Given the description of an element on the screen output the (x, y) to click on. 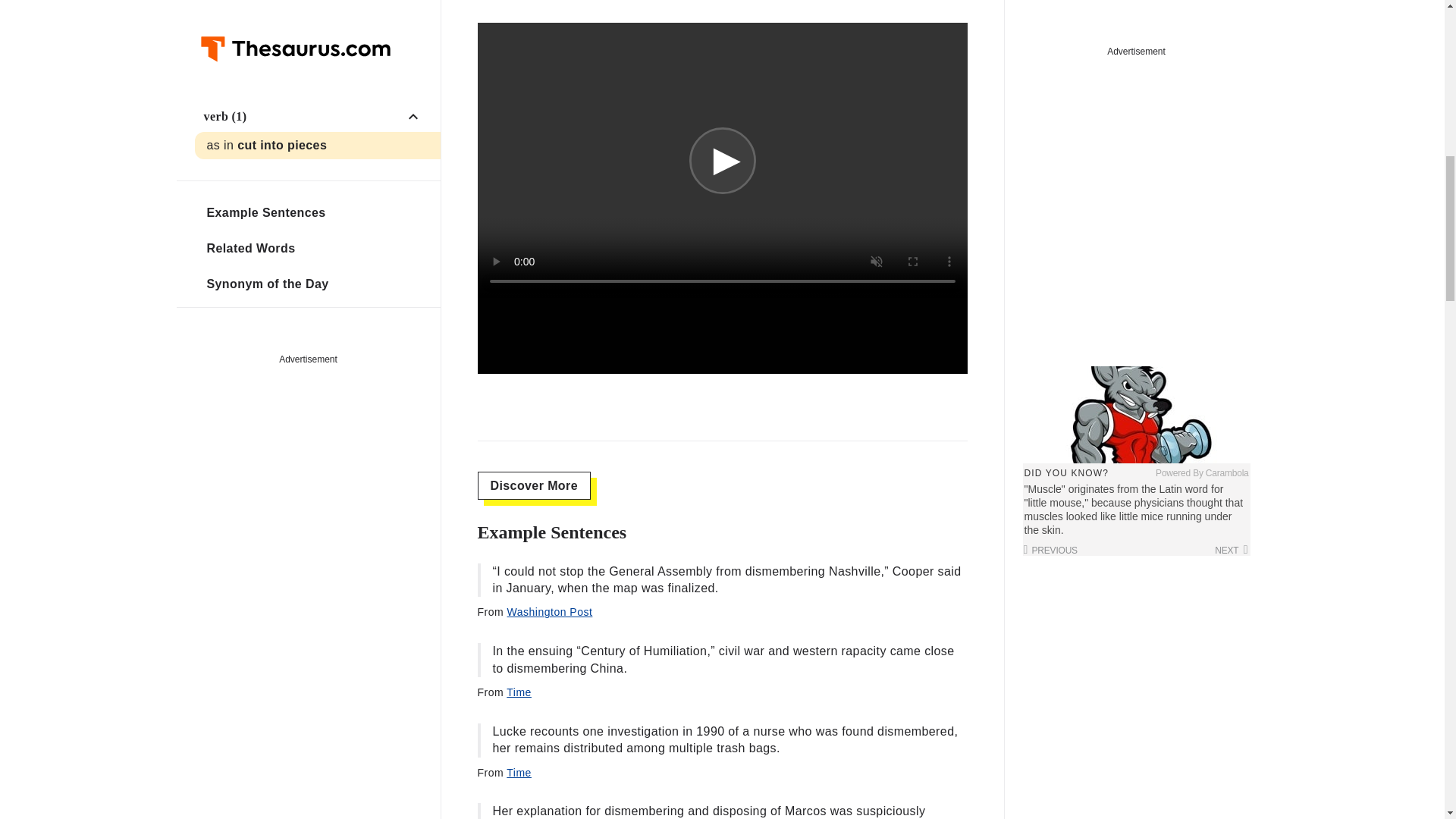
Play Video (721, 160)
